Given the description of an element on the screen output the (x, y) to click on. 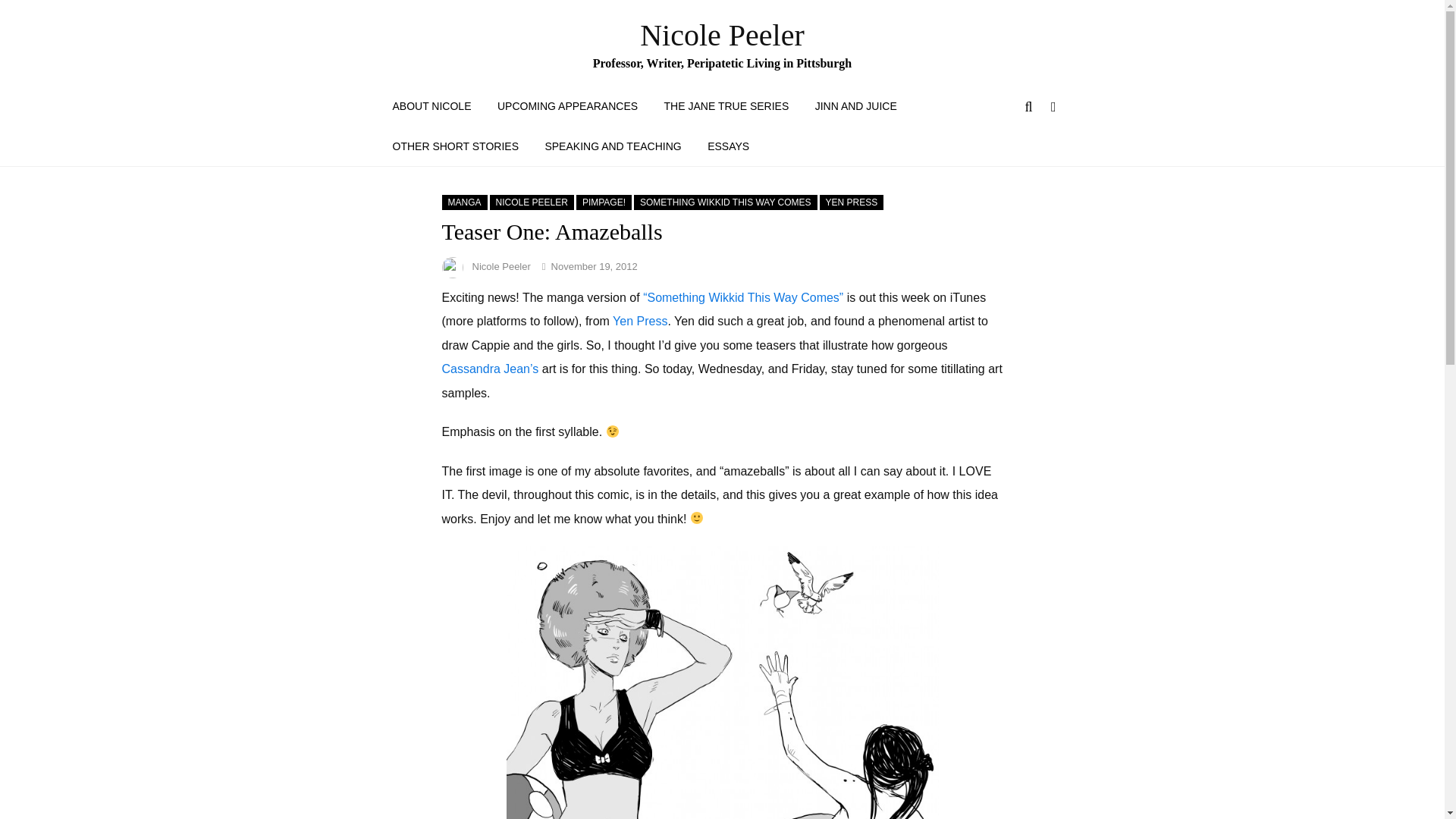
THE JANE TRUE SERIES (726, 106)
MANGA (463, 201)
Nicole Peeler (500, 266)
OTHER SHORT STORIES (454, 145)
UPCOMING APPEARANCES (567, 106)
ESSAYS (727, 145)
JINN AND JUICE (855, 106)
Yen Press (639, 320)
November 19, 2012 (594, 266)
SPEAKING AND TEACHING (612, 145)
